Given the description of an element on the screen output the (x, y) to click on. 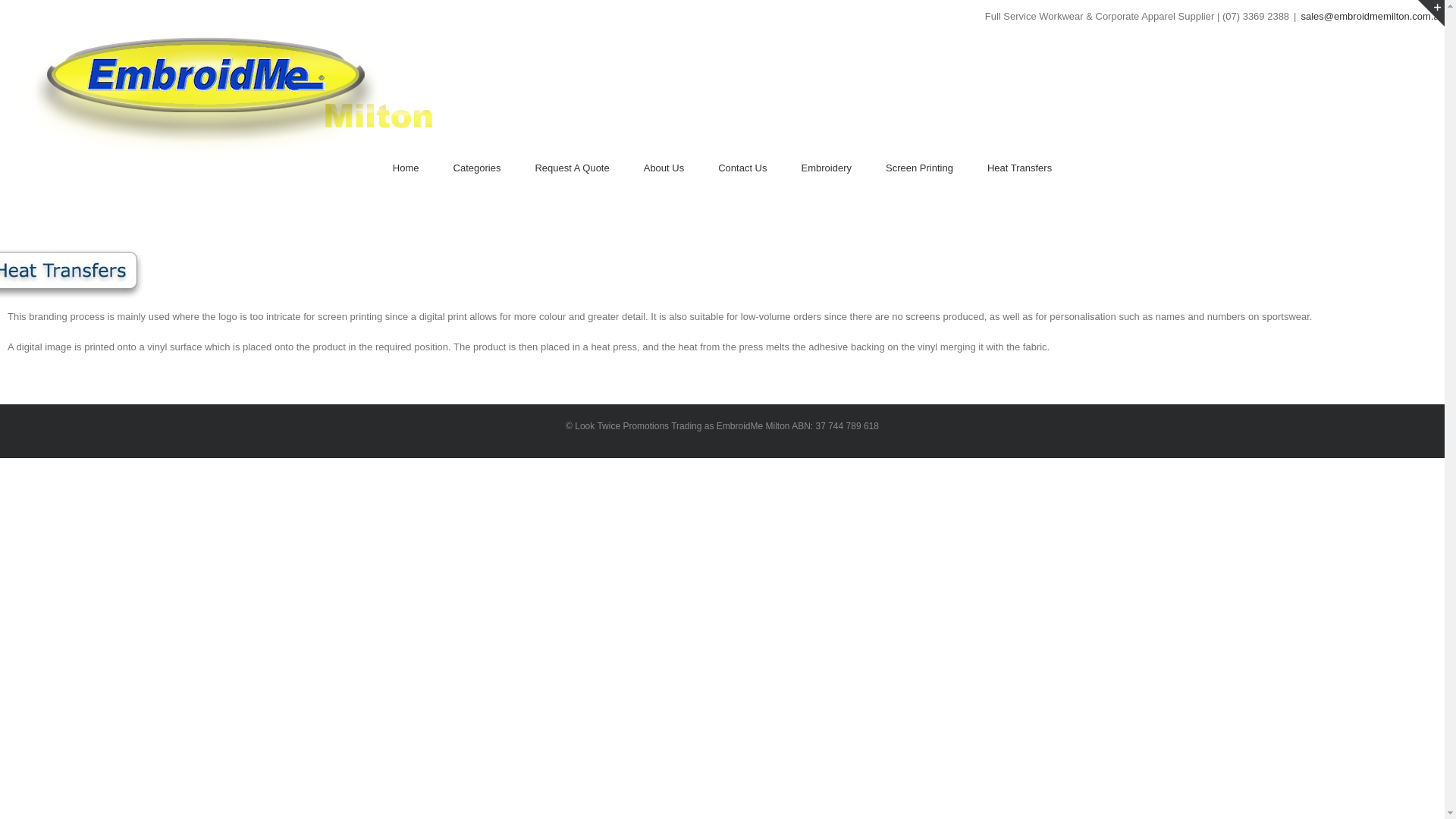
Home Element type: text (405, 167)
About Us Element type: text (663, 167)
Categories Element type: text (477, 167)
Request A Quote Element type: text (571, 167)
Screen Printing Element type: text (919, 167)
Heat Transfers Element type: text (1019, 167)
sales@embroidmemilton.com.au Element type: text (1373, 15)
Embroidery Element type: text (826, 167)
Contact Us Element type: text (742, 167)
